Given the description of an element on the screen output the (x, y) to click on. 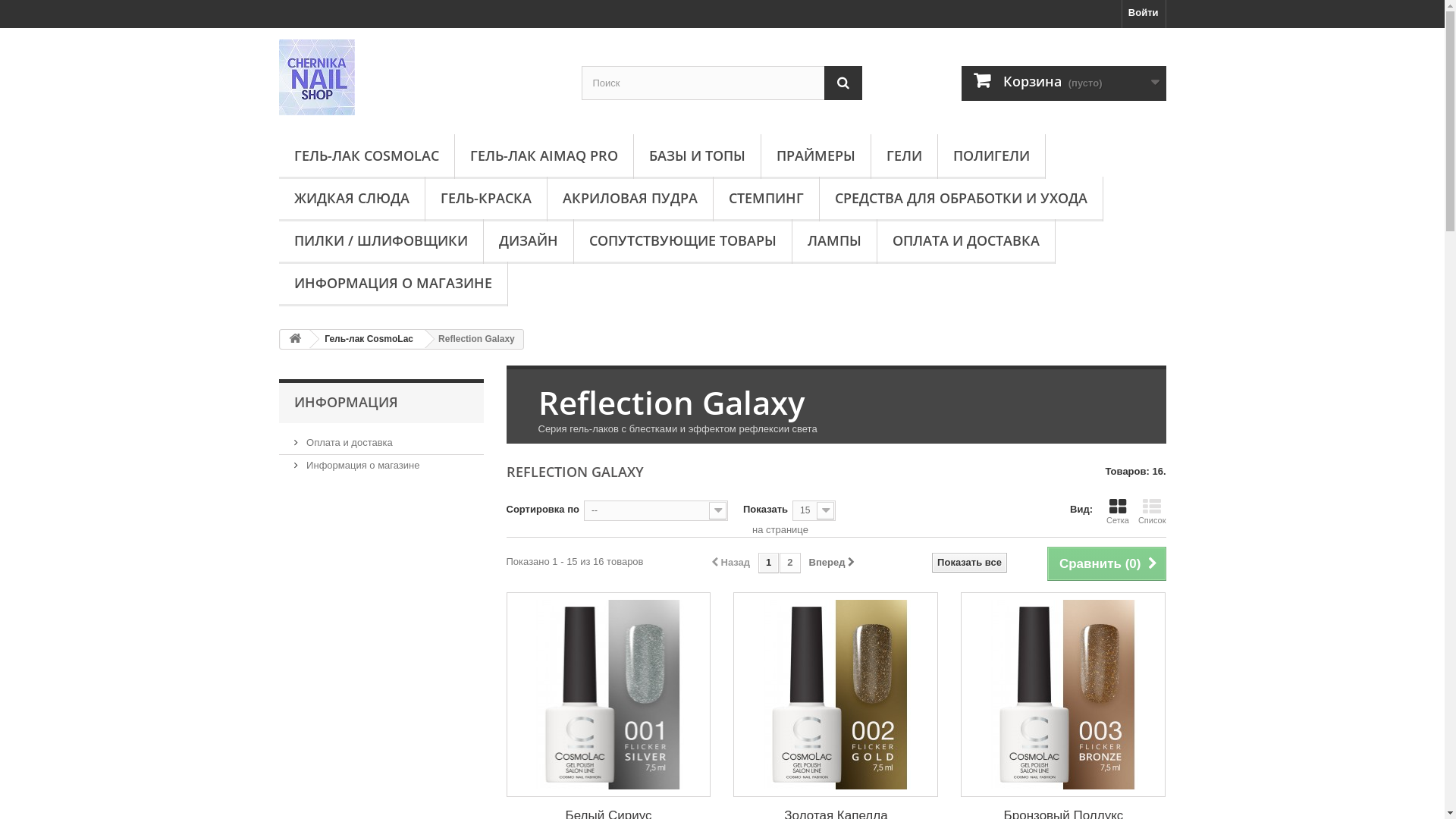
2 Element type: text (789, 562)
Chernika Nail Shop Element type: hover (419, 77)
